Given the description of an element on the screen output the (x, y) to click on. 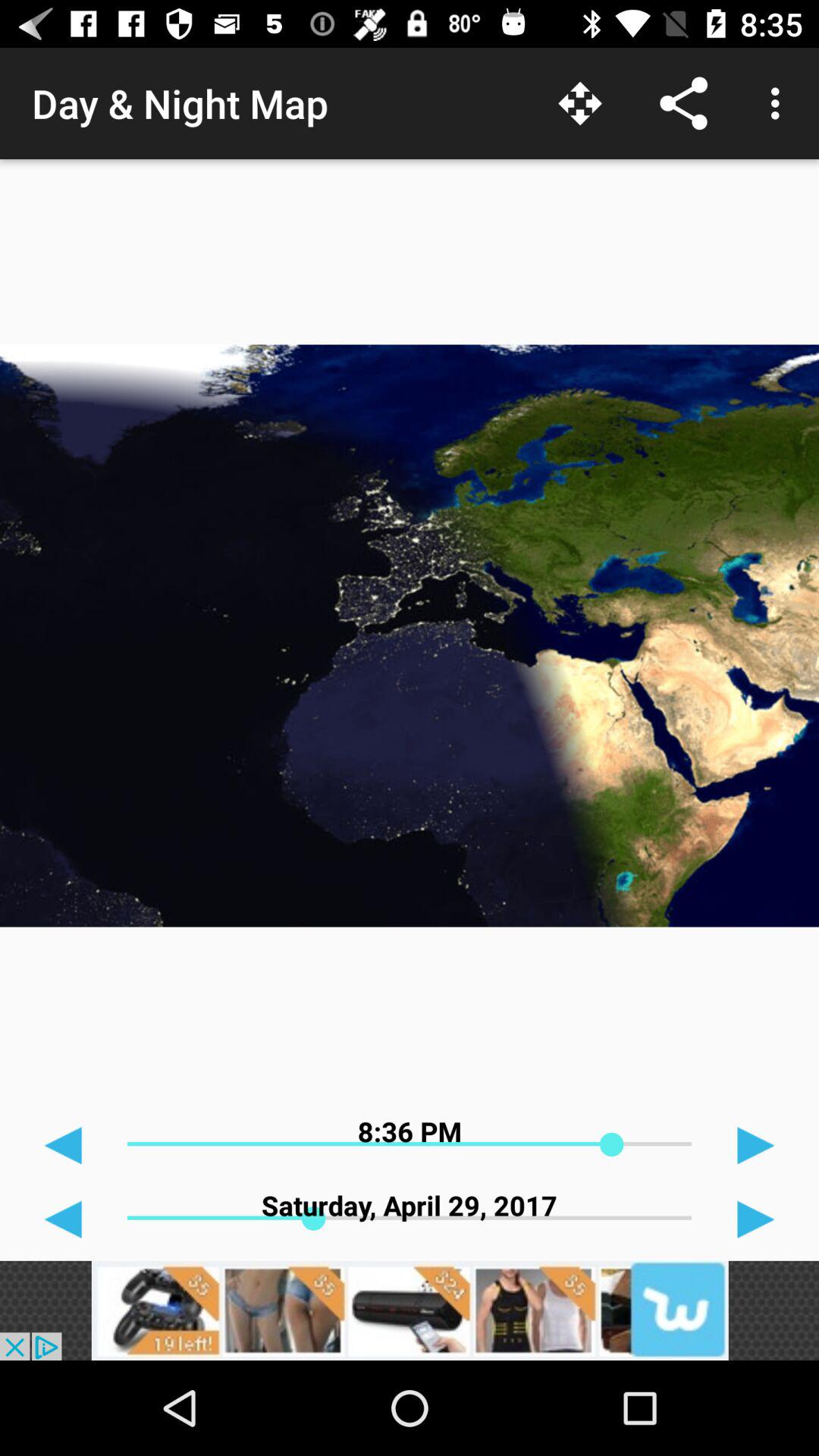
add banner (409, 1310)
